Given the description of an element on the screen output the (x, y) to click on. 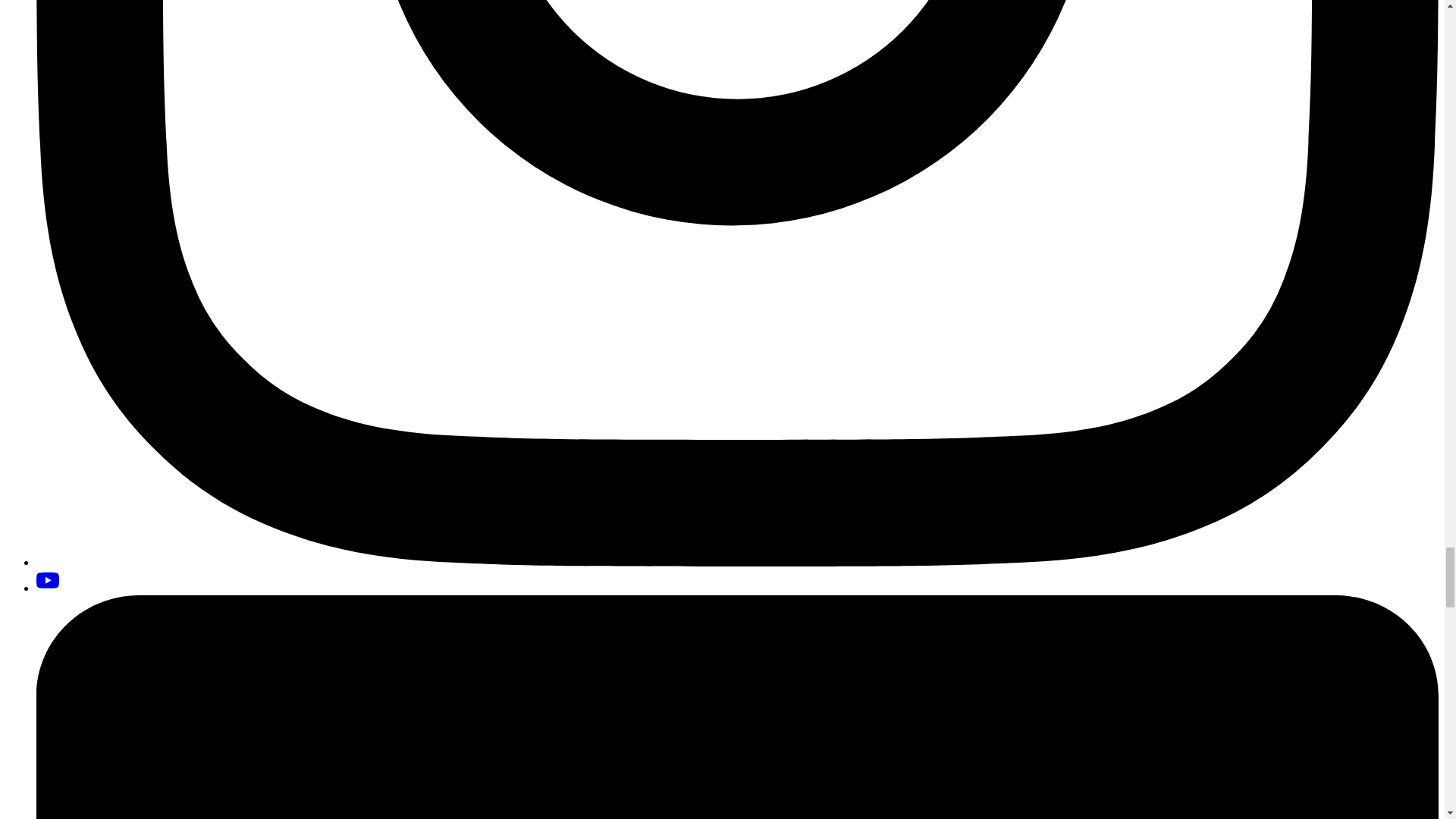
YouTube (47, 580)
